Given the description of an element on the screen output the (x, y) to click on. 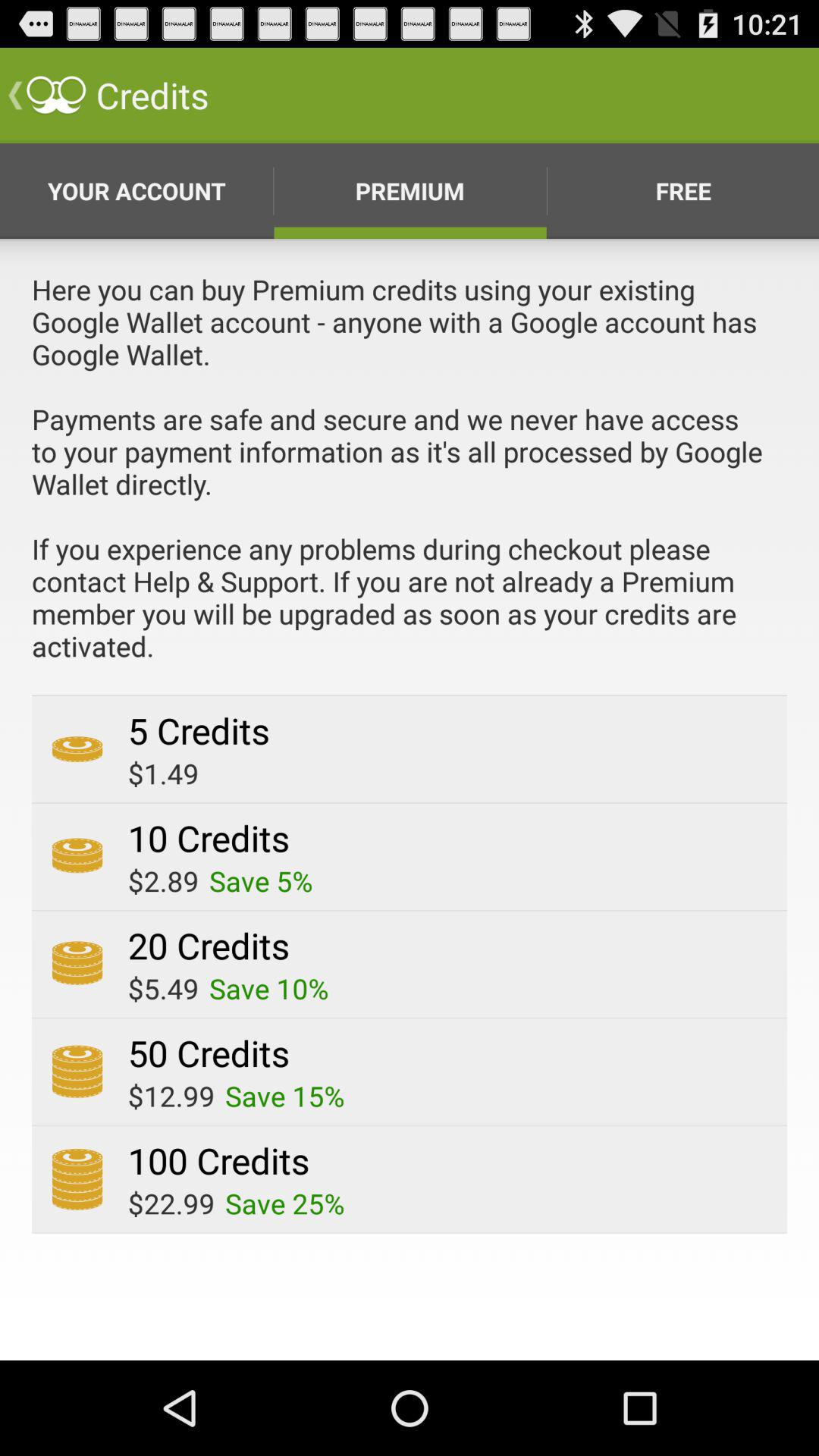
choose the 5 credits (198, 730)
